Given the description of an element on the screen output the (x, y) to click on. 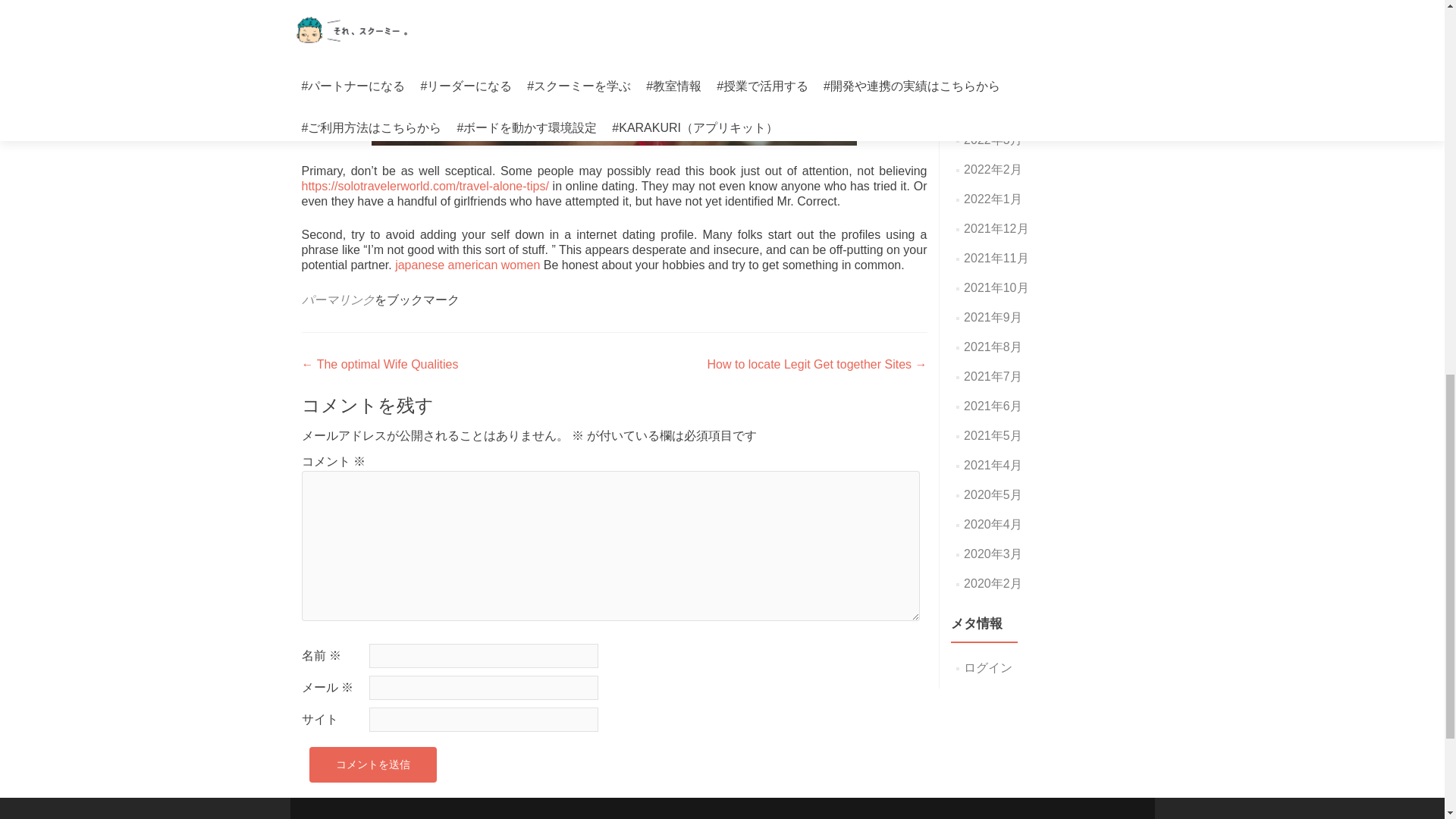
japanese american women (467, 264)
